Given the description of an element on the screen output the (x, y) to click on. 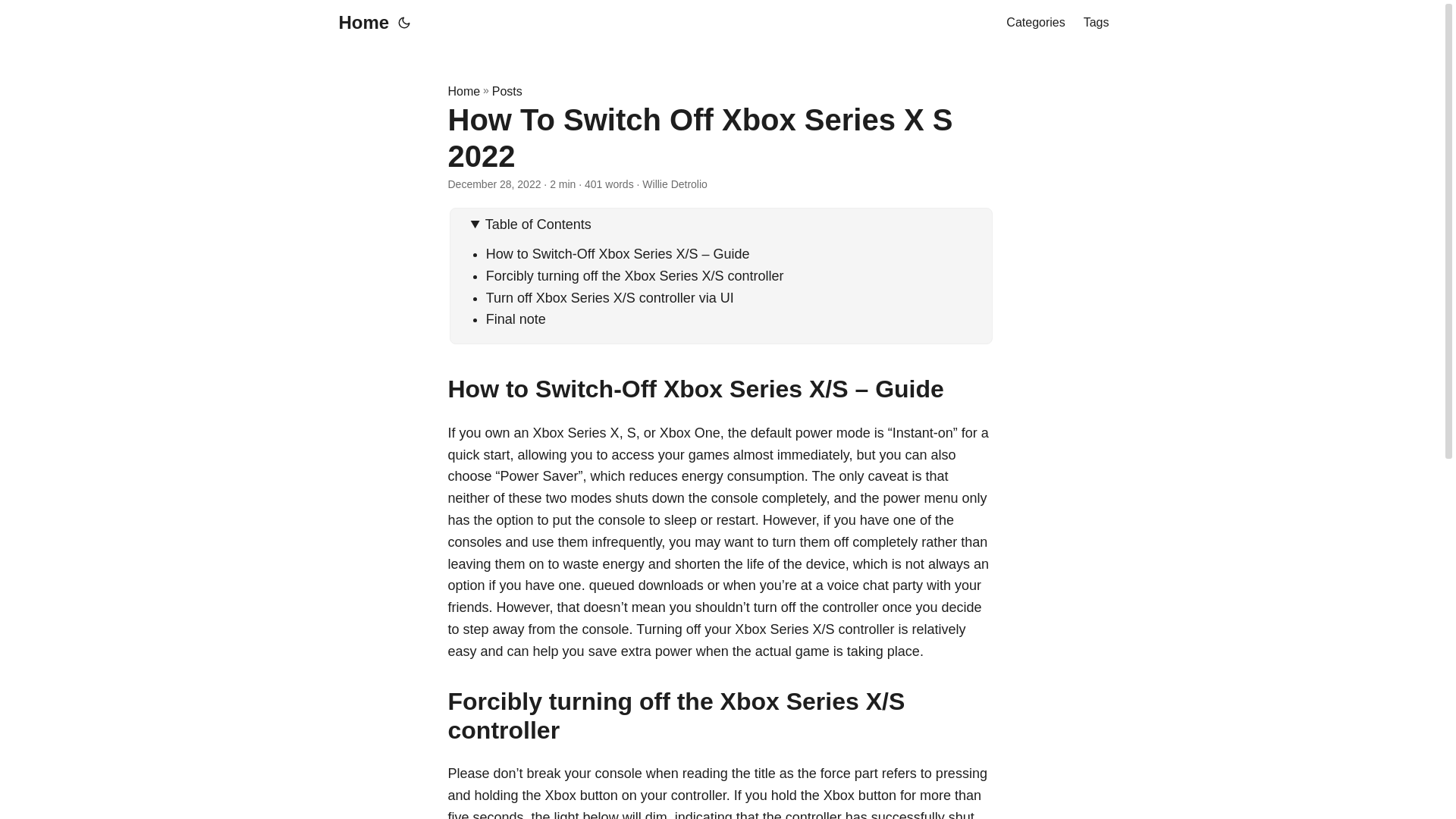
Categories (1035, 22)
Home (463, 91)
Home (359, 22)
Posts (507, 91)
Final note (516, 319)
Categories (1035, 22)
